Given the description of an element on the screen output the (x, y) to click on. 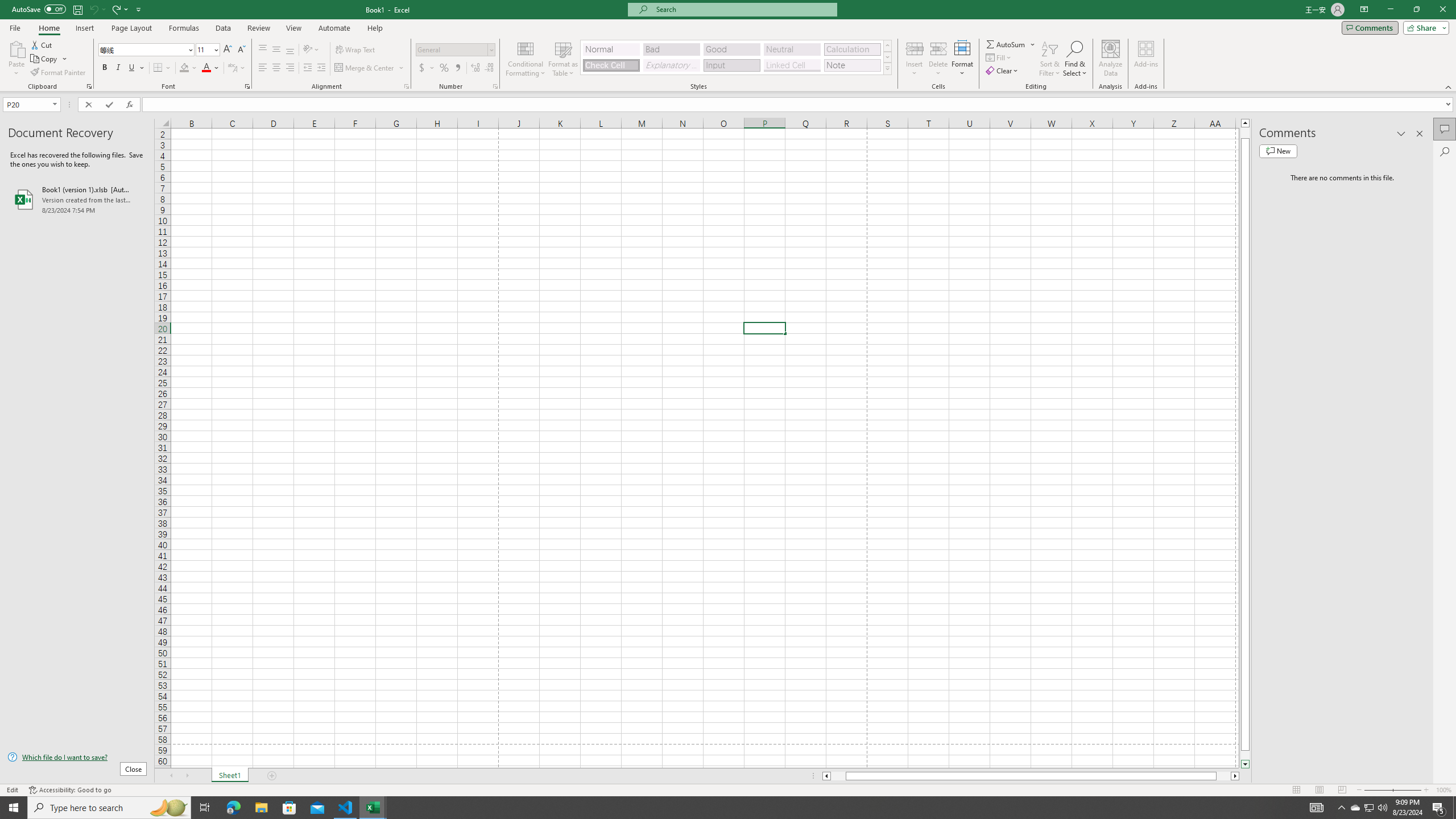
Sort & Filter (1049, 58)
Copy (49, 58)
Page up (1245, 132)
Comma Style (457, 67)
Number Format (455, 49)
Fill Color (188, 67)
Font Size (207, 49)
